Given the description of an element on the screen output the (x, y) to click on. 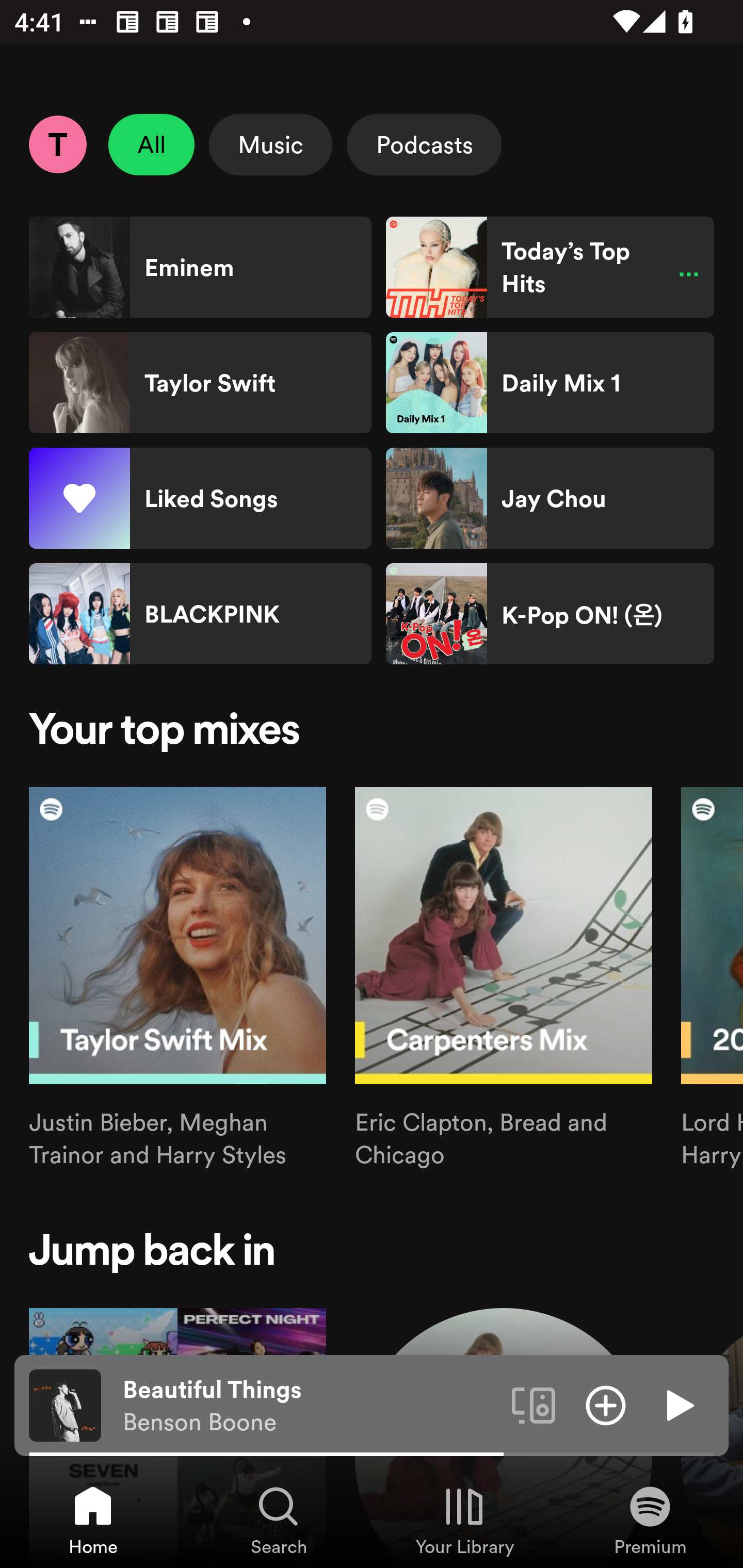
Profile (57, 144)
All Unselect All (151, 144)
Music Select Music (270, 144)
Podcasts Select Podcasts (423, 144)
Eminem Shortcut Eminem (199, 267)
Today’s Top Hits Shortcut Today’s Top Hits Paused (549, 267)
Taylor Swift Shortcut Taylor Swift (199, 382)
Daily Mix 1 Shortcut Daily Mix 1 (549, 382)
Liked Songs Shortcut Liked Songs (199, 498)
Jay Chou Shortcut Jay Chou (549, 498)
BLACKPINK Shortcut BLACKPINK (199, 613)
K-Pop ON! (온) Shortcut K-Pop ON! (온) (549, 613)
Beautiful Things Benson Boone (309, 1405)
The cover art of the currently playing track (64, 1404)
Connect to a device. Opens the devices menu (533, 1404)
Add item (605, 1404)
Play (677, 1404)
Home, Tab 1 of 4 Home Home (92, 1519)
Search, Tab 2 of 4 Search Search (278, 1519)
Your Library, Tab 3 of 4 Your Library Your Library (464, 1519)
Premium, Tab 4 of 4 Premium Premium (650, 1519)
